Given the description of an element on the screen output the (x, y) to click on. 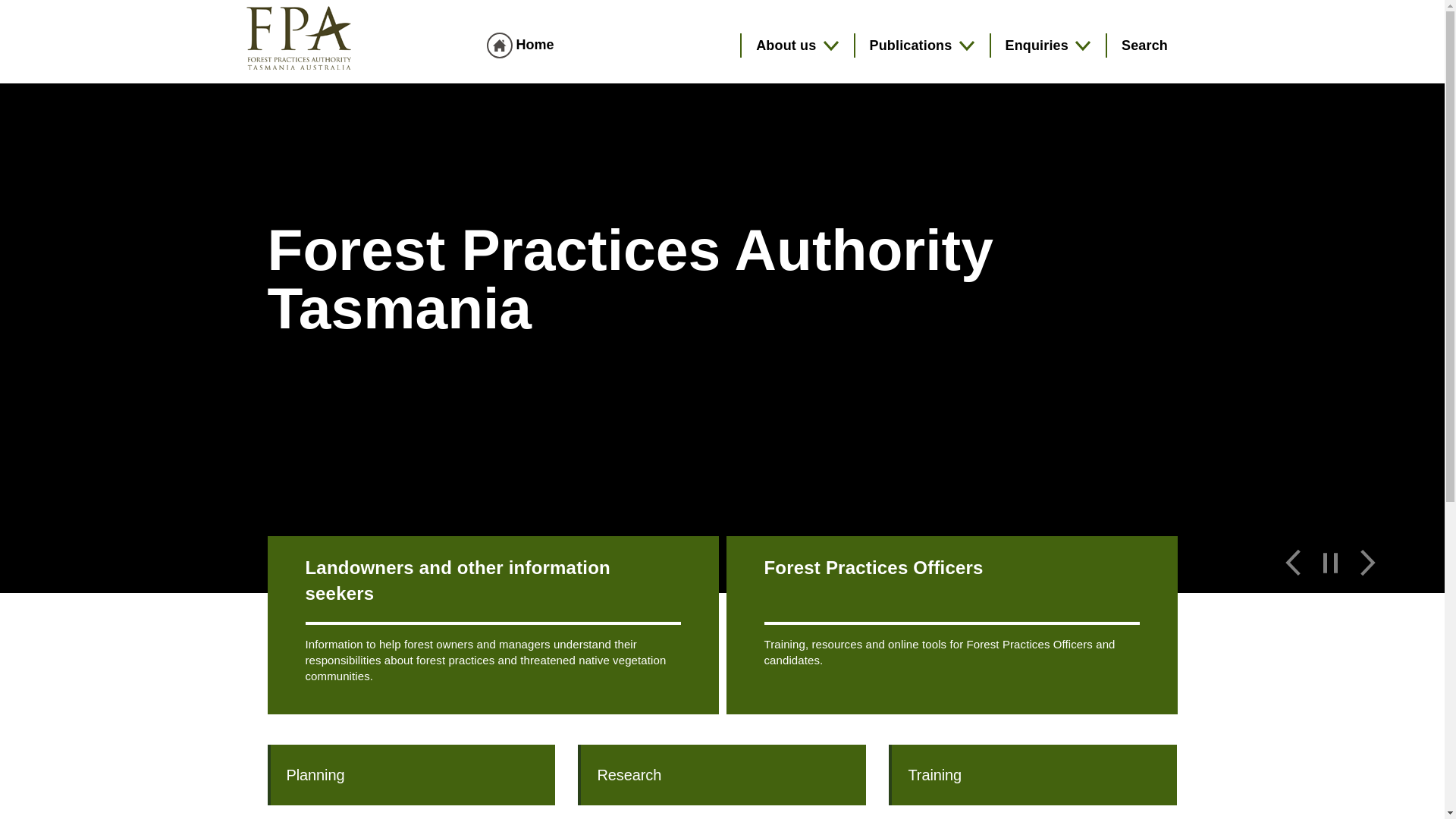
home main static Home (520, 44)
home main static (499, 45)
